Given the description of an element on the screen output the (x, y) to click on. 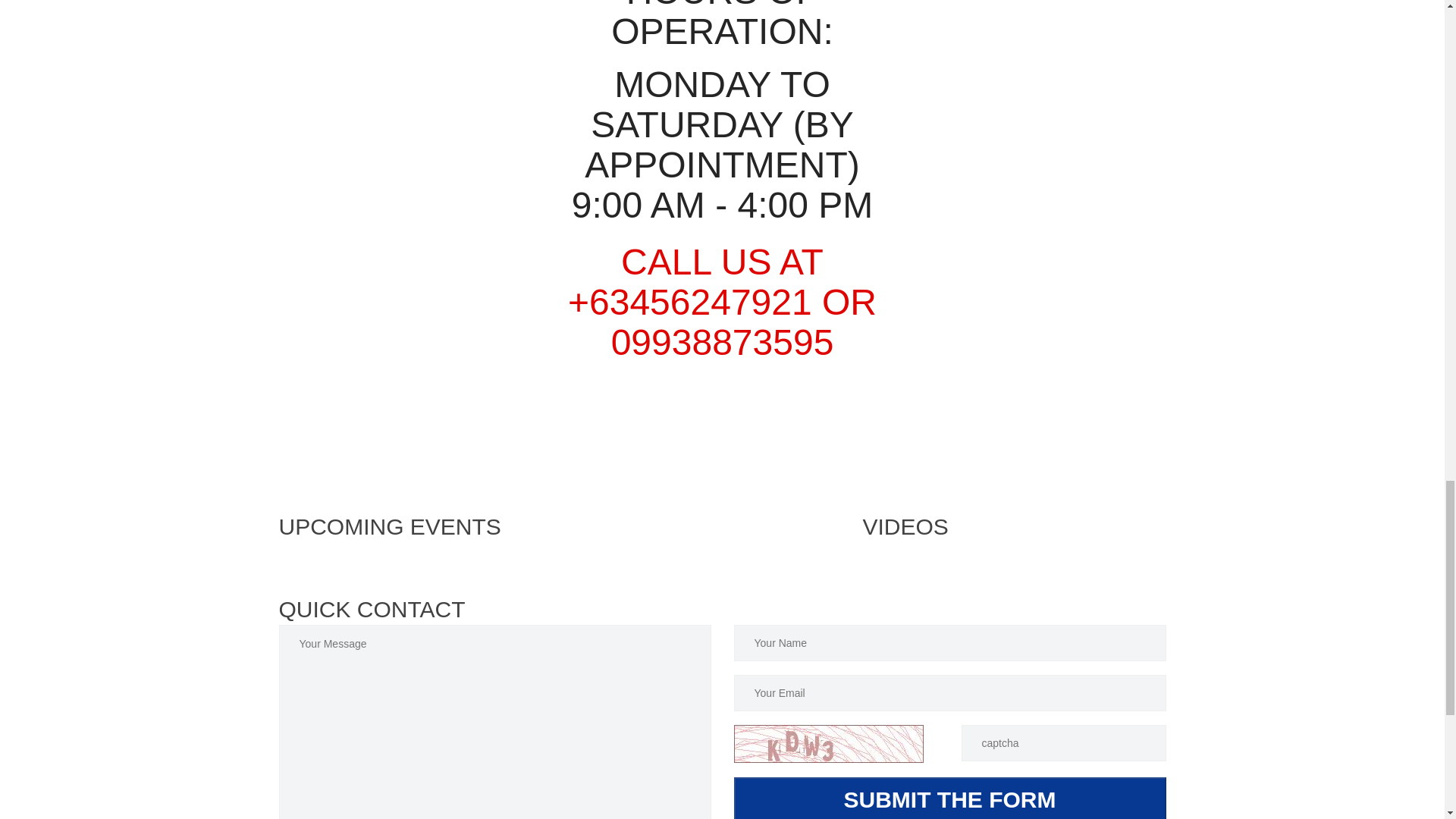
Submit the form (949, 798)
Submit the form (949, 798)
